Given the description of an element on the screen output the (x, y) to click on. 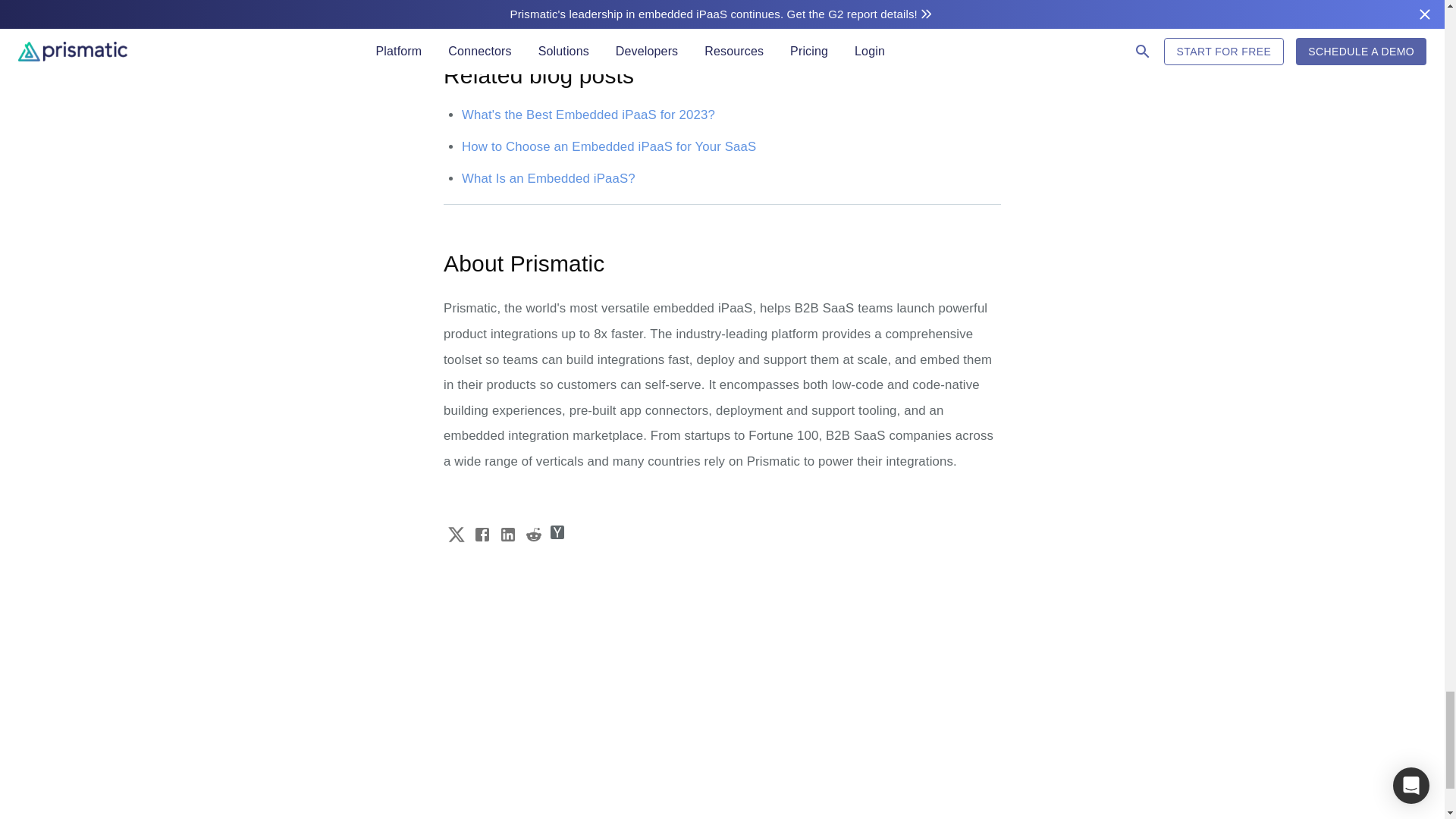
What Is an Embedded iPaaS? (547, 178)
What's the Best Embedded iPaaS for 2023? (587, 114)
Facebook (481, 534)
LinkedIn (507, 534)
Hacker News (556, 531)
Reddit (532, 534)
Twitter (455, 534)
How to Choose an Embedded iPaaS for Your SaaS (608, 146)
